Given the description of an element on the screen output the (x, y) to click on. 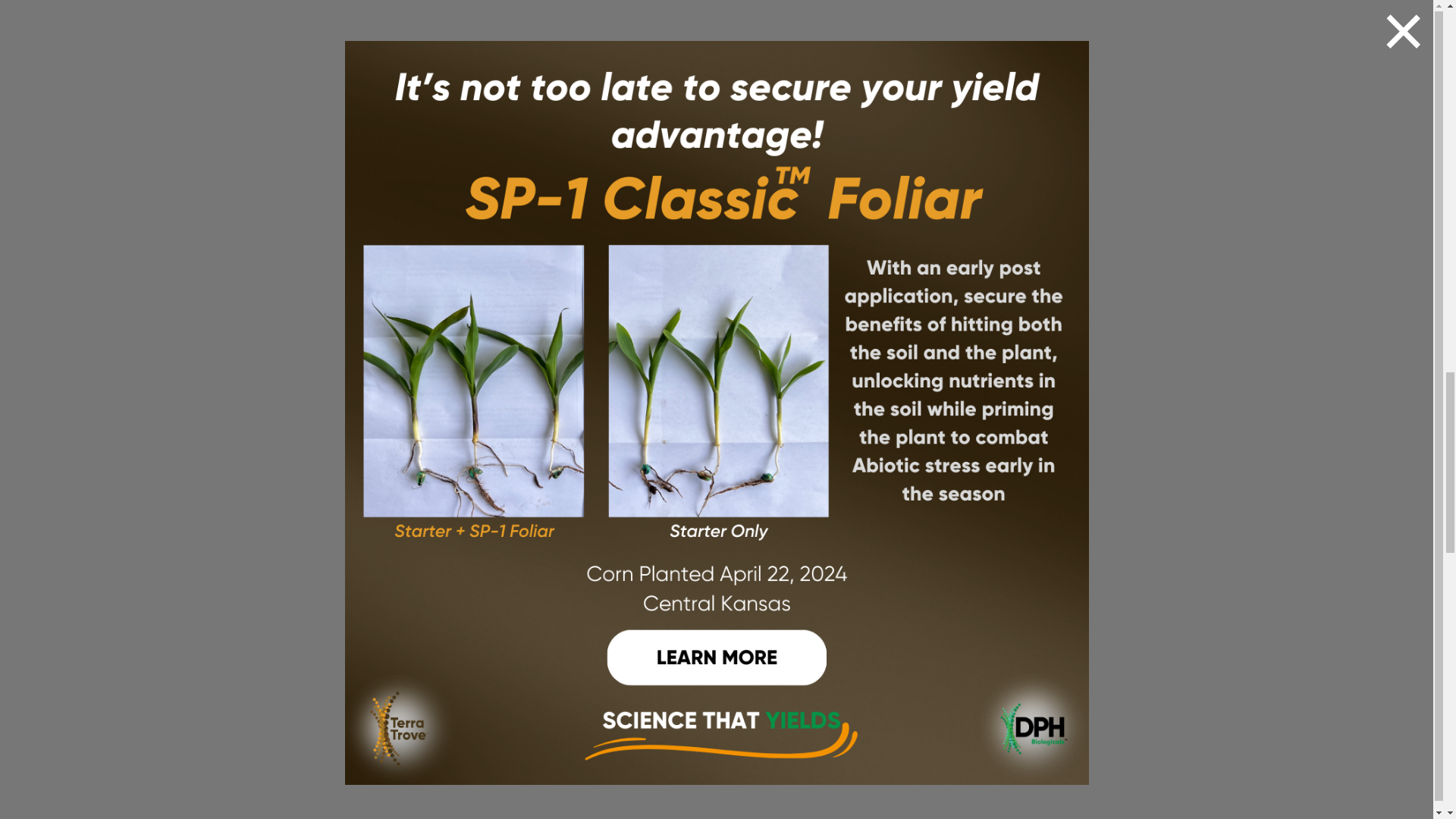
quotation marks (721, 701)
